Given the description of an element on the screen output the (x, y) to click on. 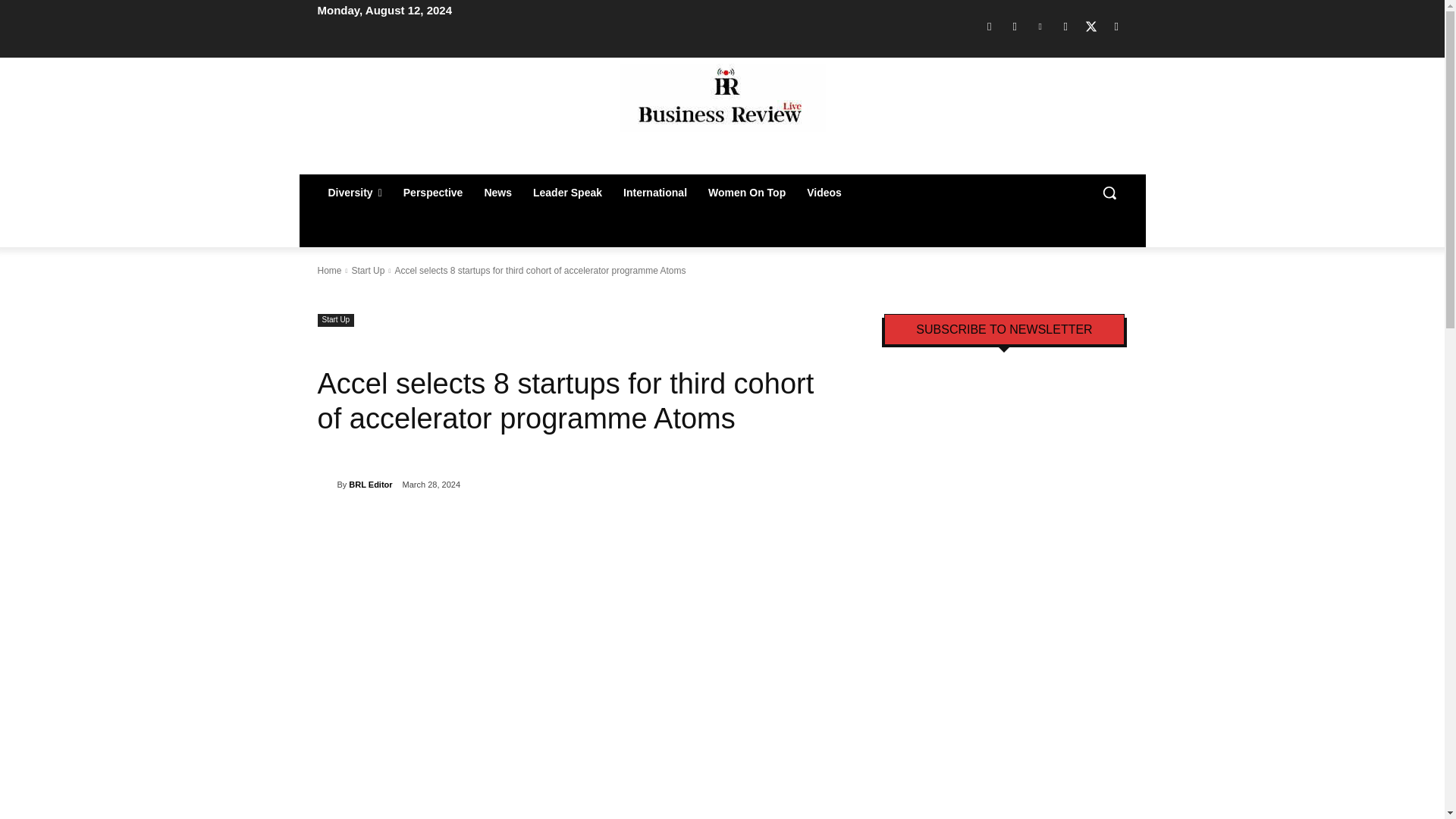
Perspective (433, 192)
Women On Top (746, 192)
International (654, 192)
Mail (1065, 26)
Facebook (989, 26)
Linkedin (1040, 26)
Diversity (354, 192)
Instagram (1015, 26)
Twitter (1091, 26)
Leader Speak (567, 192)
